Given the description of an element on the screen output the (x, y) to click on. 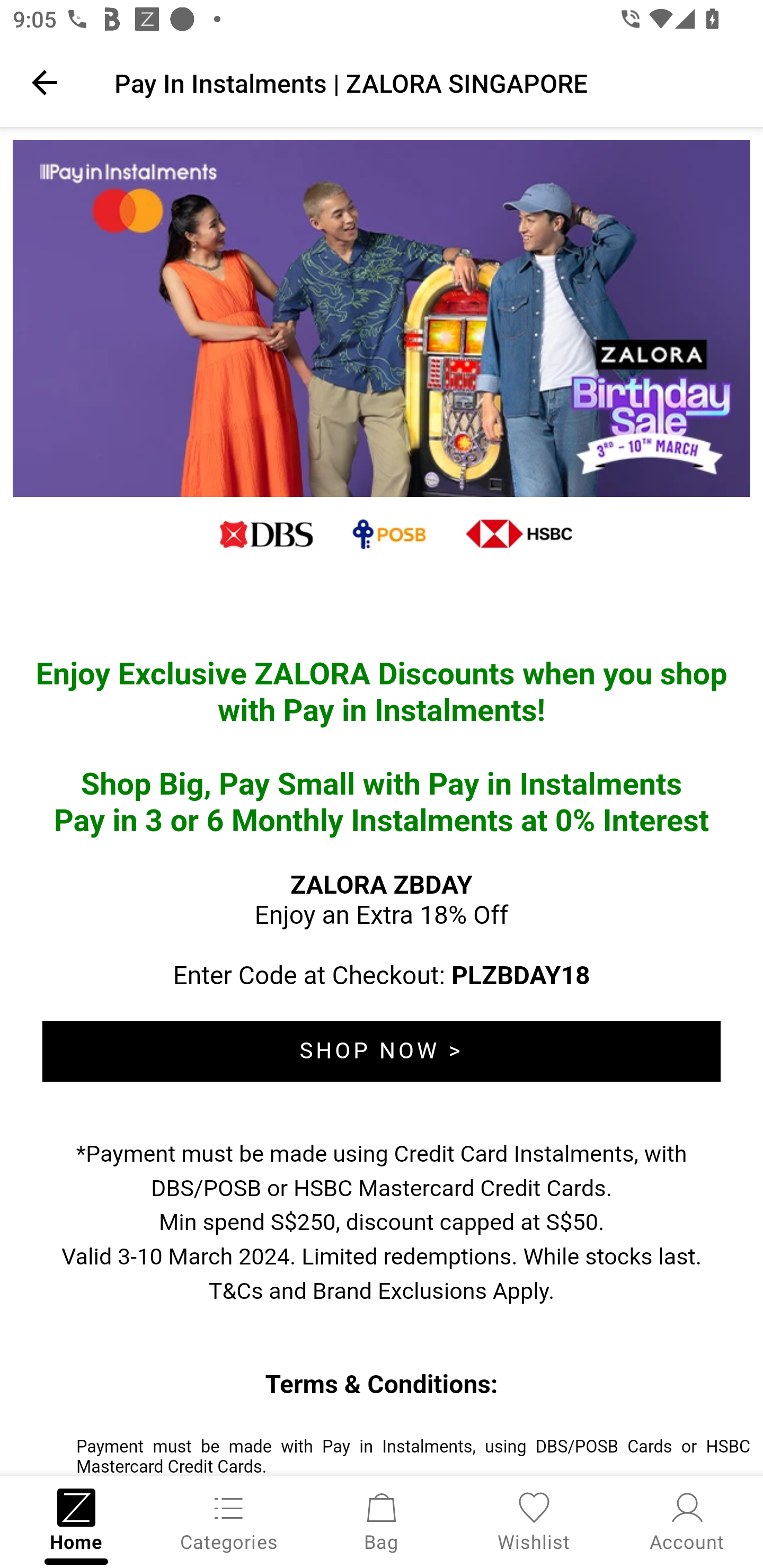
Navigate up (44, 82)
Pay In Instalments | ZALORA SINGAPORE (426, 82)
SHOP NOW > (381, 1050)
Categories (228, 1519)
Bag (381, 1519)
Wishlist (533, 1519)
Account (686, 1519)
